Given the description of an element on the screen output the (x, y) to click on. 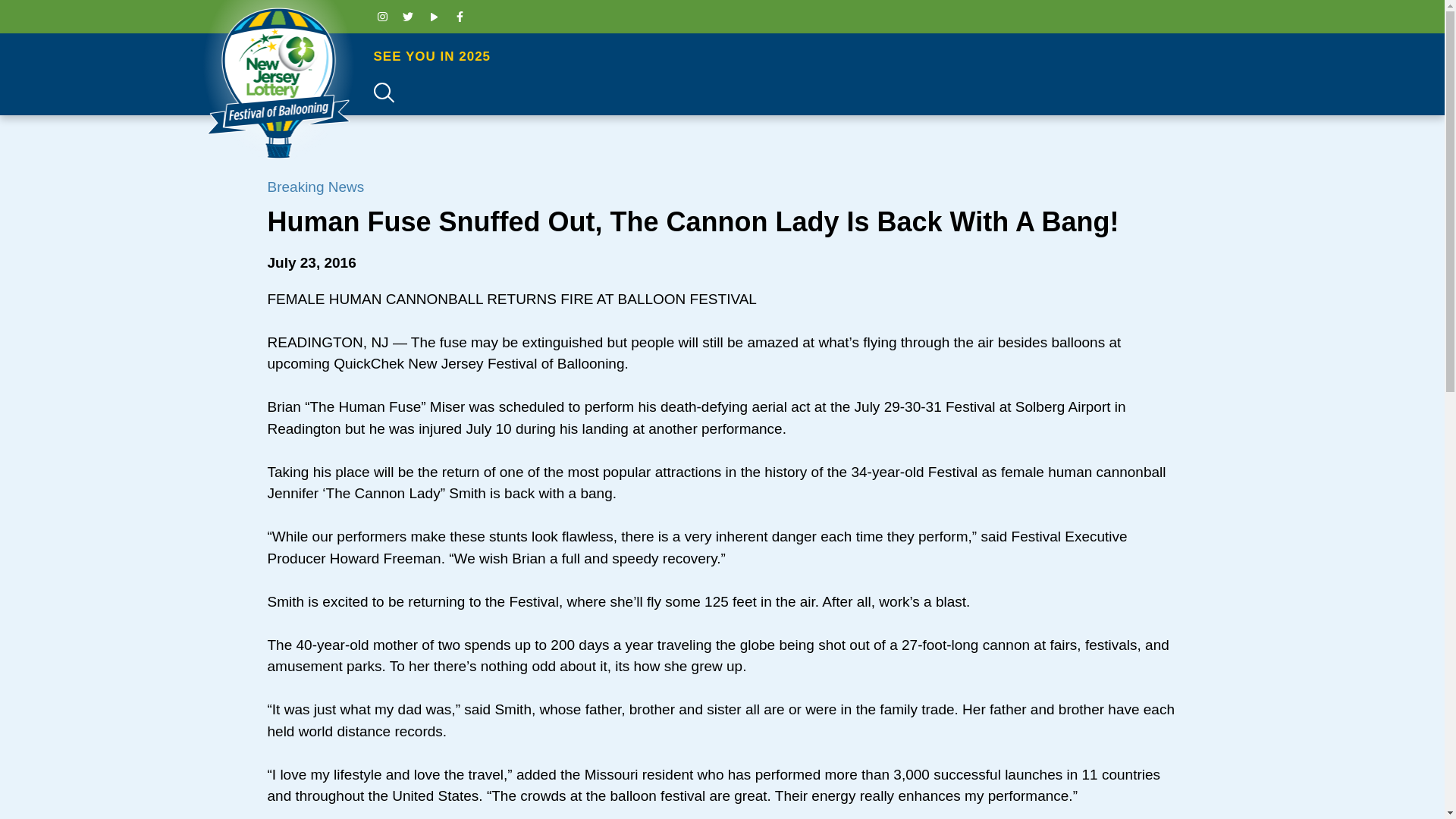
Breaking News (315, 186)
search (1376, 41)
